Given the description of an element on the screen output the (x, y) to click on. 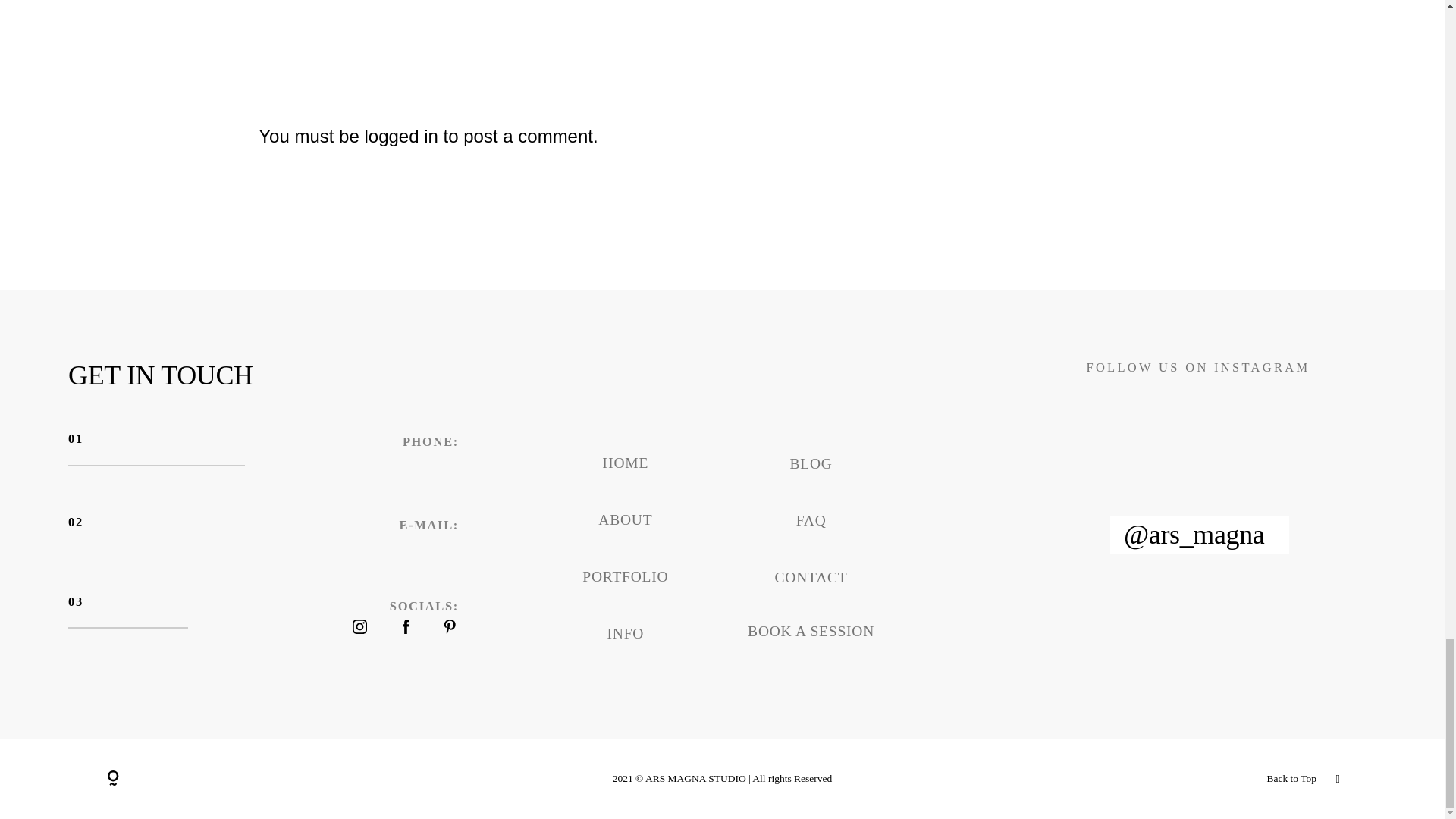
Back to Top (1135, 778)
BLOG (810, 463)
HOME (625, 462)
PORTFOLIO (625, 576)
ABOUT (625, 519)
CONTACT (810, 577)
Back to Top (1291, 778)
Sorry, your browser does not support inline SVG. (112, 778)
logged in (401, 136)
FAQ (811, 520)
